Given the description of an element on the screen output the (x, y) to click on. 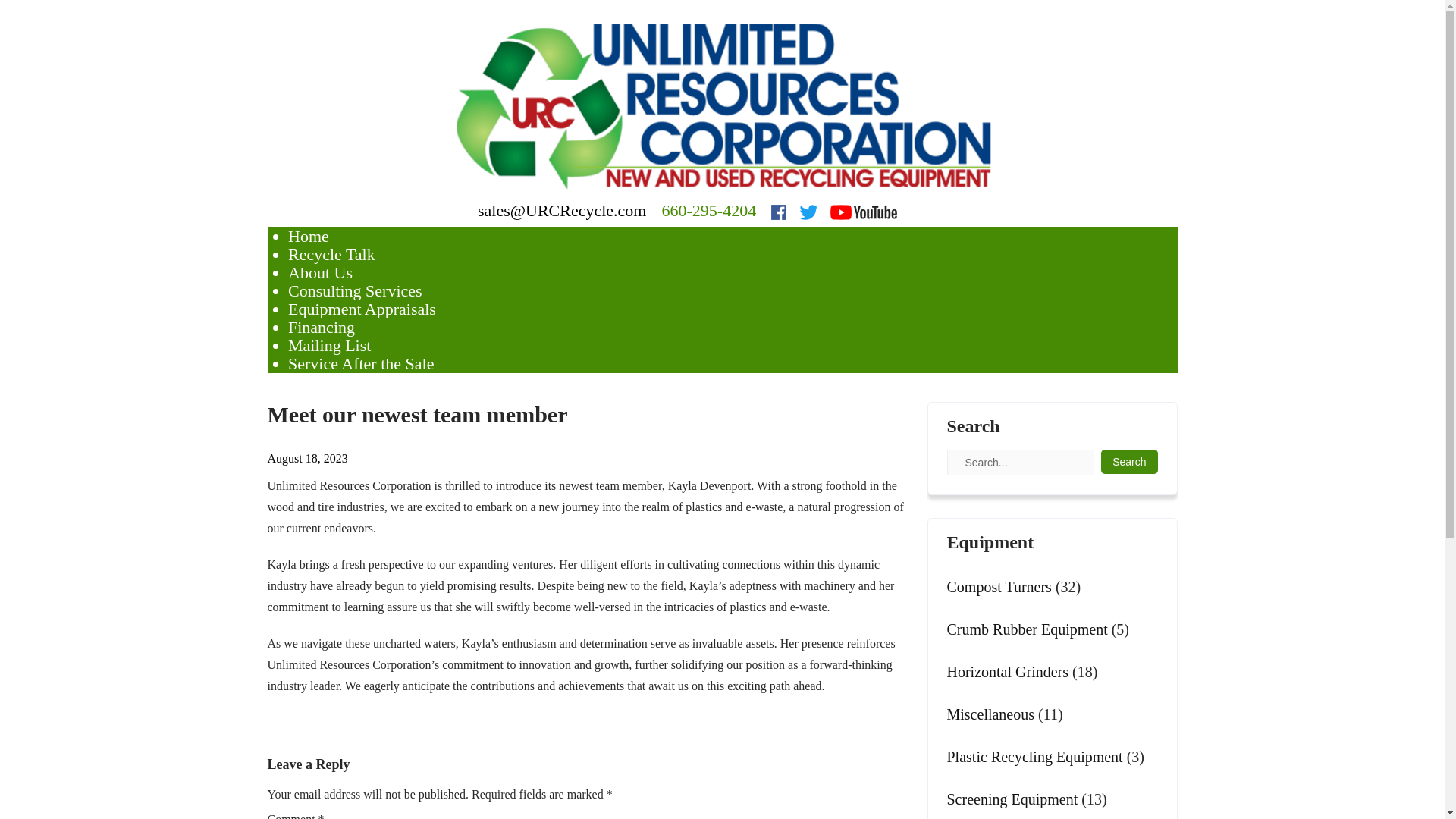
Miscellaneous (989, 713)
Equipment Appraisals (361, 308)
Recycle Talk (331, 253)
Search (1128, 461)
Horizontal Grinders (1007, 671)
Home (308, 235)
Screening Equipment (1011, 799)
Compost Turners (998, 587)
